Given the description of an element on the screen output the (x, y) to click on. 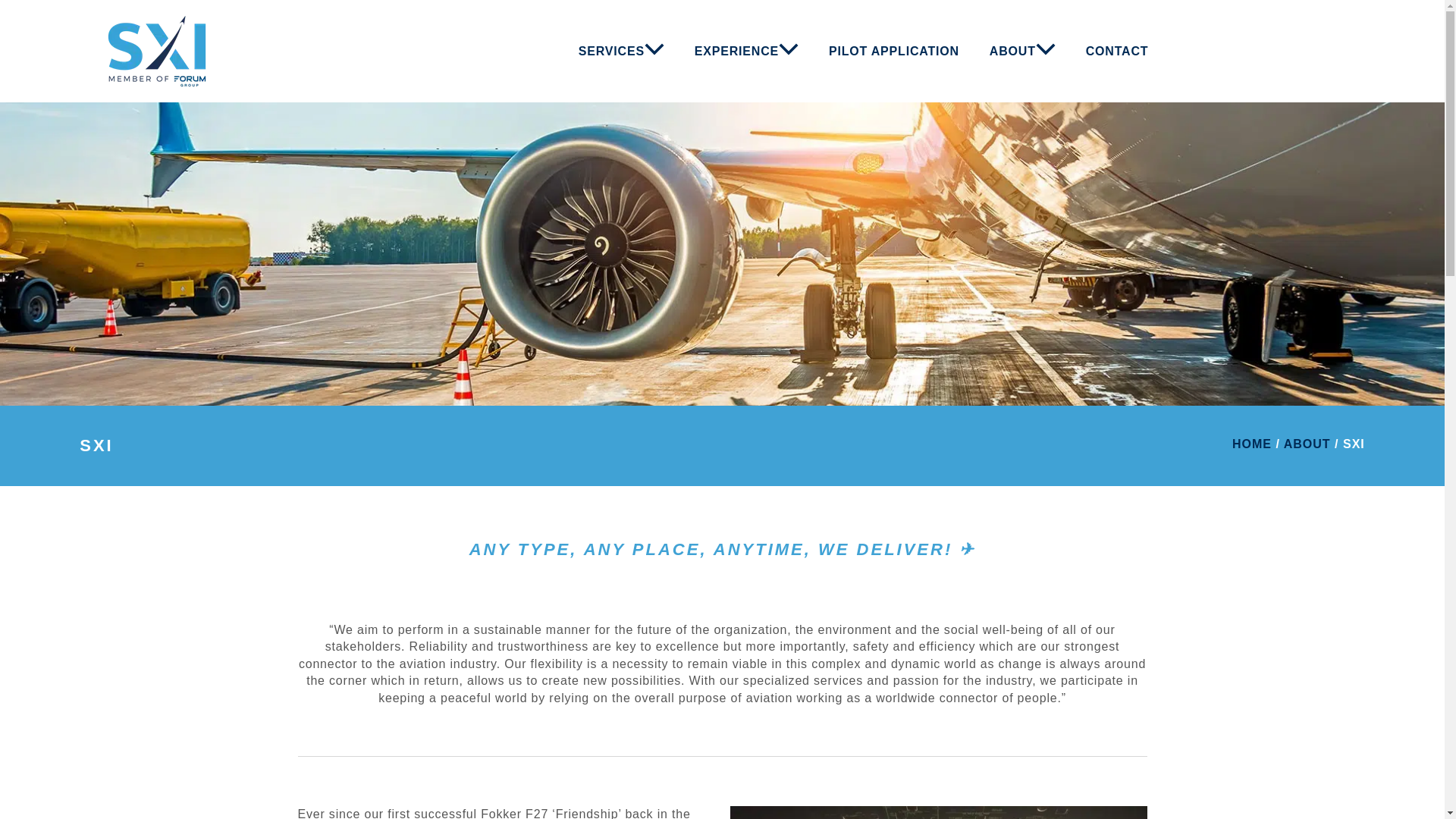
ABOUT (1307, 443)
SERVICES (621, 50)
HOME (1251, 443)
PILOT APPLICATION (893, 50)
ABOUT (1022, 50)
EXPERIENCE (746, 50)
CONTACT (1116, 50)
